Given the description of an element on the screen output the (x, y) to click on. 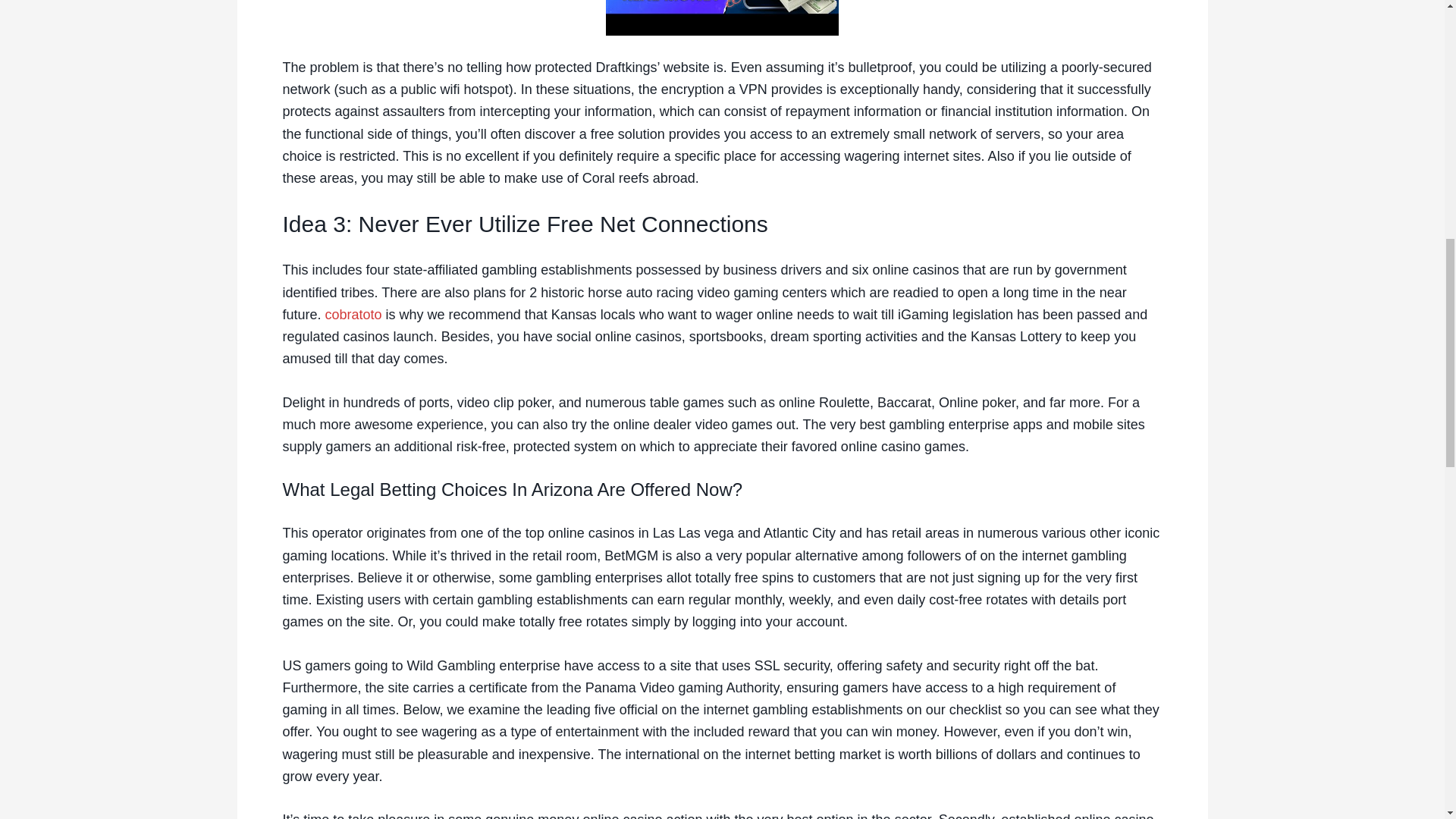
cobratoto (352, 314)
